Given the description of an element on the screen output the (x, y) to click on. 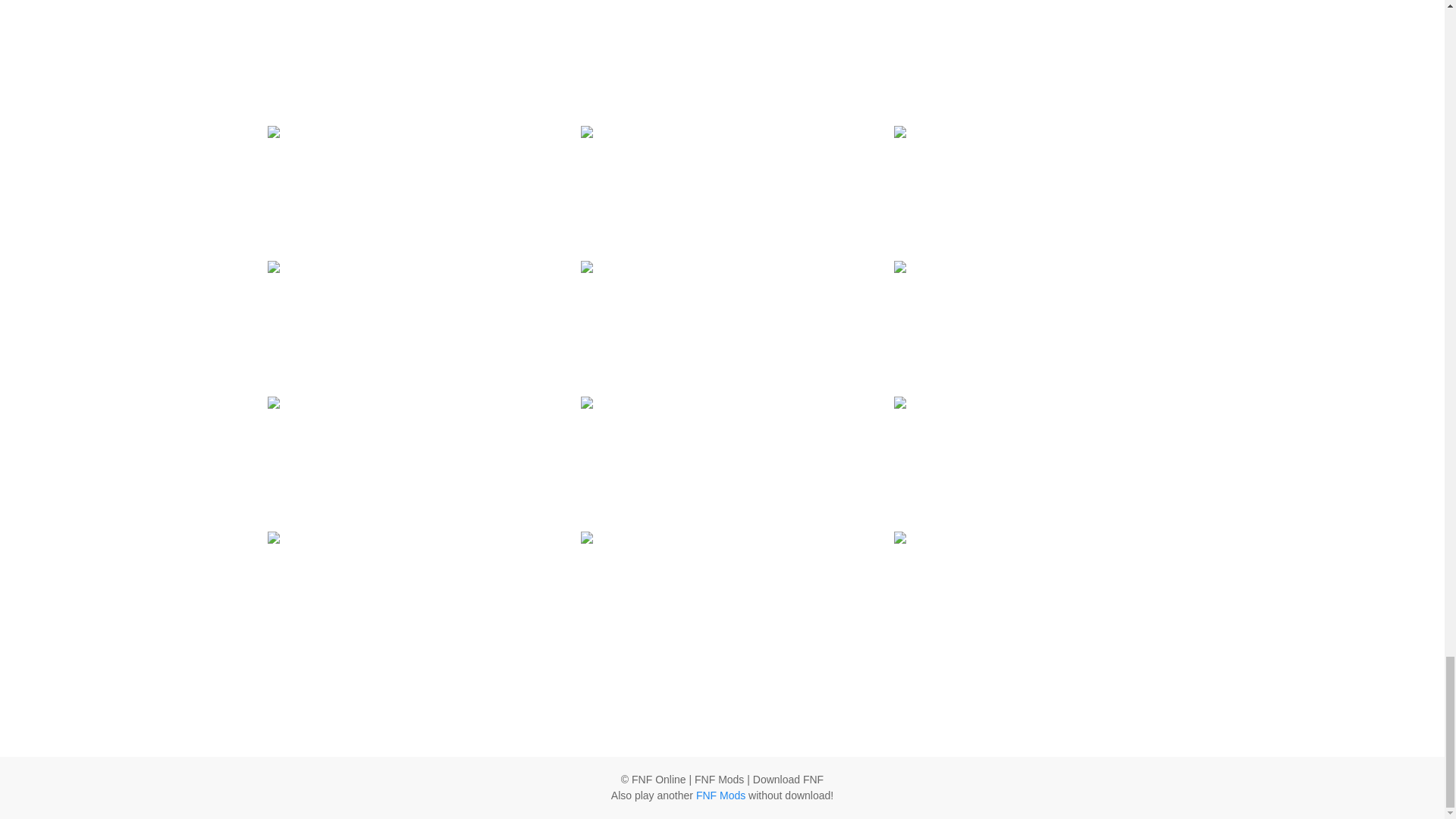
Friday Night Funkin vs Scratch Cat (721, 15)
FNF: Everyone from Creepypastas sings Expurgation (1034, 39)
Friday Night Funkin vs Kai (1034, 170)
Friday Night Funkin: vs The Hacker Man (721, 305)
FNF: Everyone from Creepypastas sings Expurgation (1034, 39)
Friday Night Funkin vs Scratch Cat (721, 15)
FNF Vs Mag Hank Rebooted (408, 170)
FNF vs Improbable Chaos Mashup Mod (408, 440)
Friday Night Funkin vs Taylor (1034, 305)
FNF Vs Mag Hank Rebooted (408, 170)
FNF: Funkin With Nova! (408, 290)
